Given the description of an element on the screen output the (x, y) to click on. 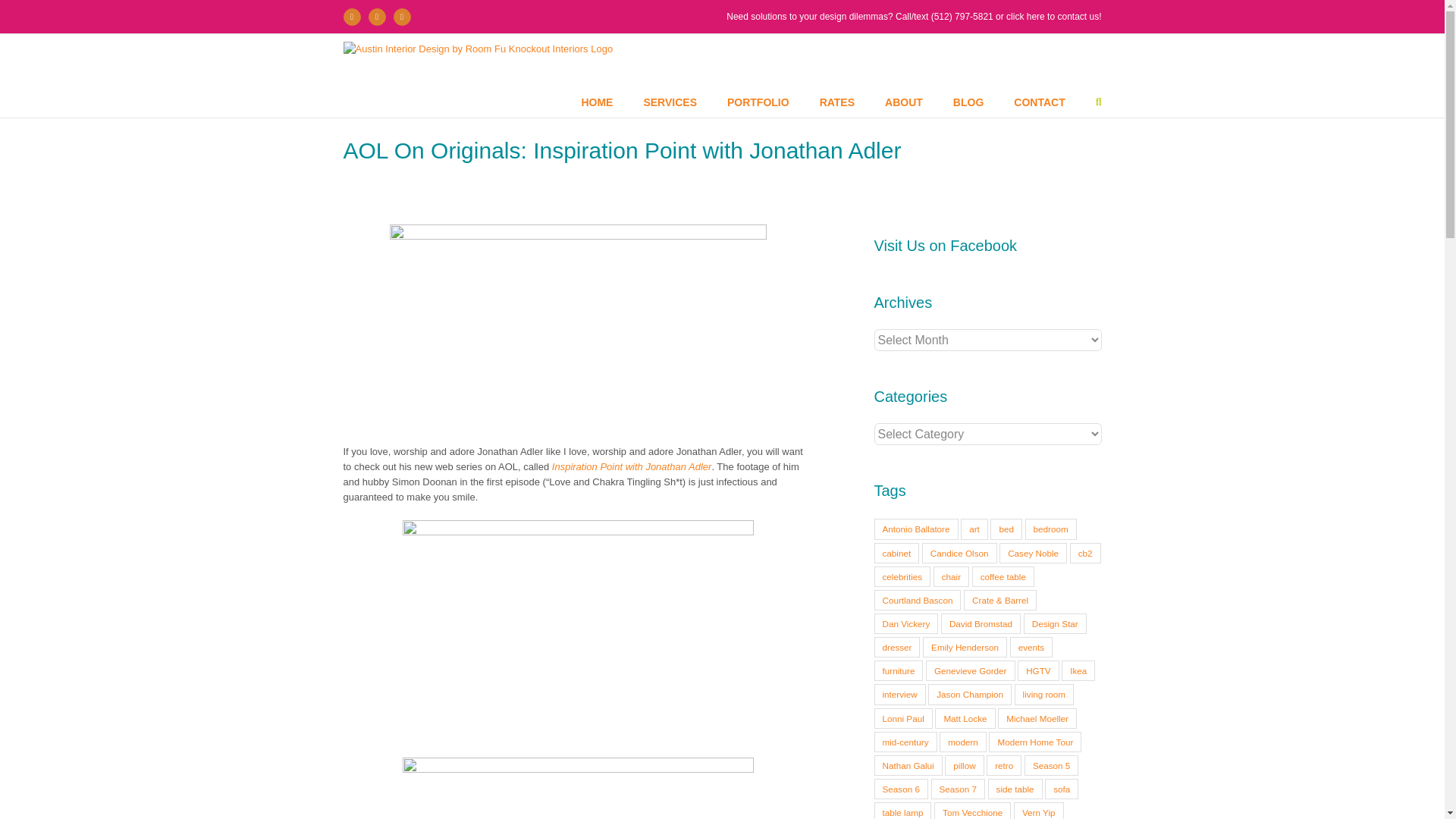
Inspiration Point with Jonathan Adler (631, 466)
BLOG (968, 101)
Facebook (350, 16)
SERVICES (670, 101)
Pinterest (401, 16)
Twitter (376, 16)
simon doonan jonathan adler inspiration point aol (578, 788)
Facebook (350, 16)
click here to contact us (1052, 16)
CONTACT (1038, 101)
